Given the description of an element on the screen output the (x, y) to click on. 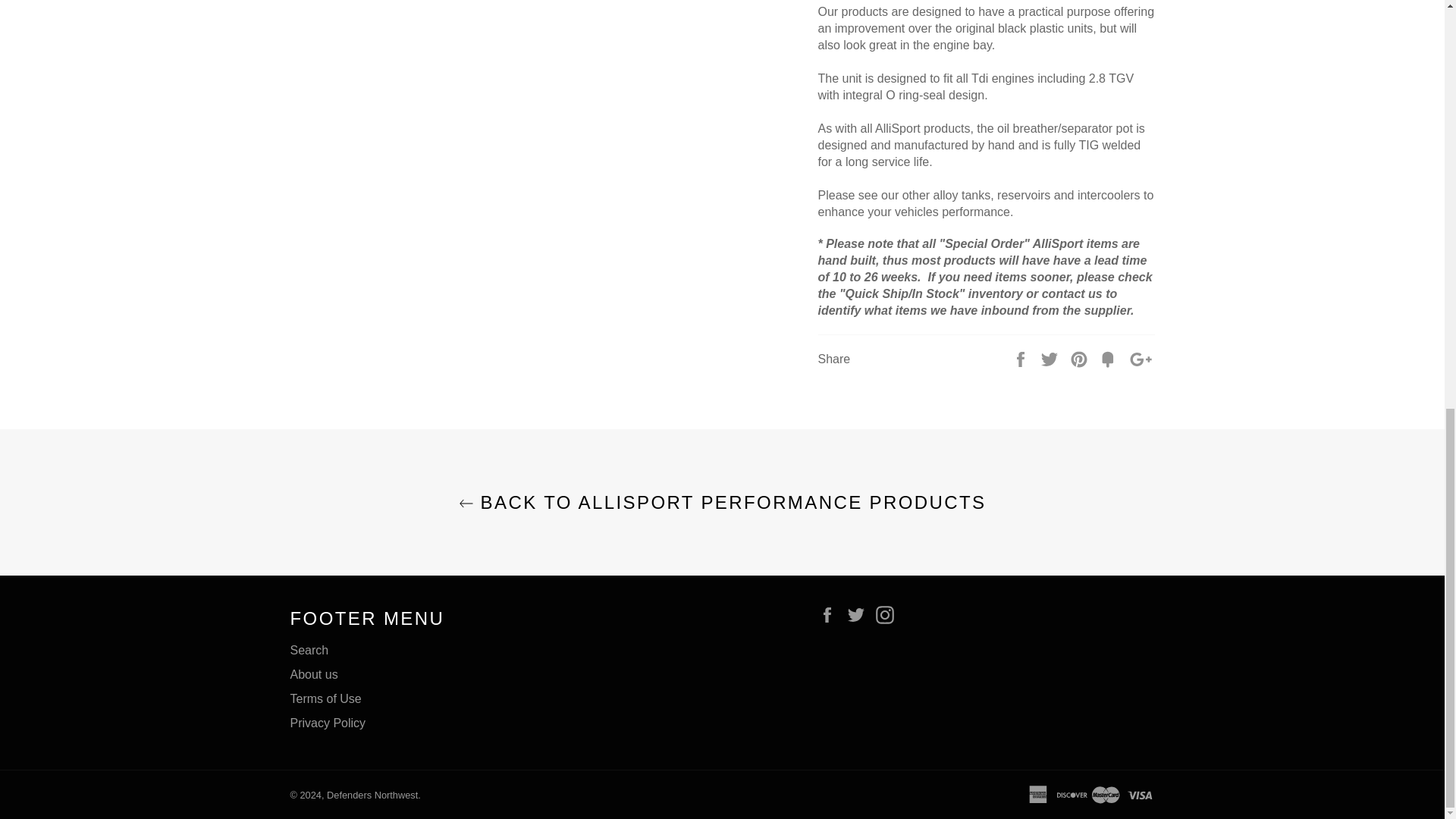
Defenders Northwest on Instagram (888, 613)
Defenders Northwest on Facebook (829, 613)
Pin on Pinterest (1080, 358)
Defenders Northwest on Twitter (859, 613)
Pin on Pinterest (1080, 358)
Tweet on Twitter (1051, 358)
Add to Fancy (1109, 358)
Tweet on Twitter (1051, 358)
Share on Facebook (1021, 358)
Share on Facebook (1021, 358)
